Given the description of an element on the screen output the (x, y) to click on. 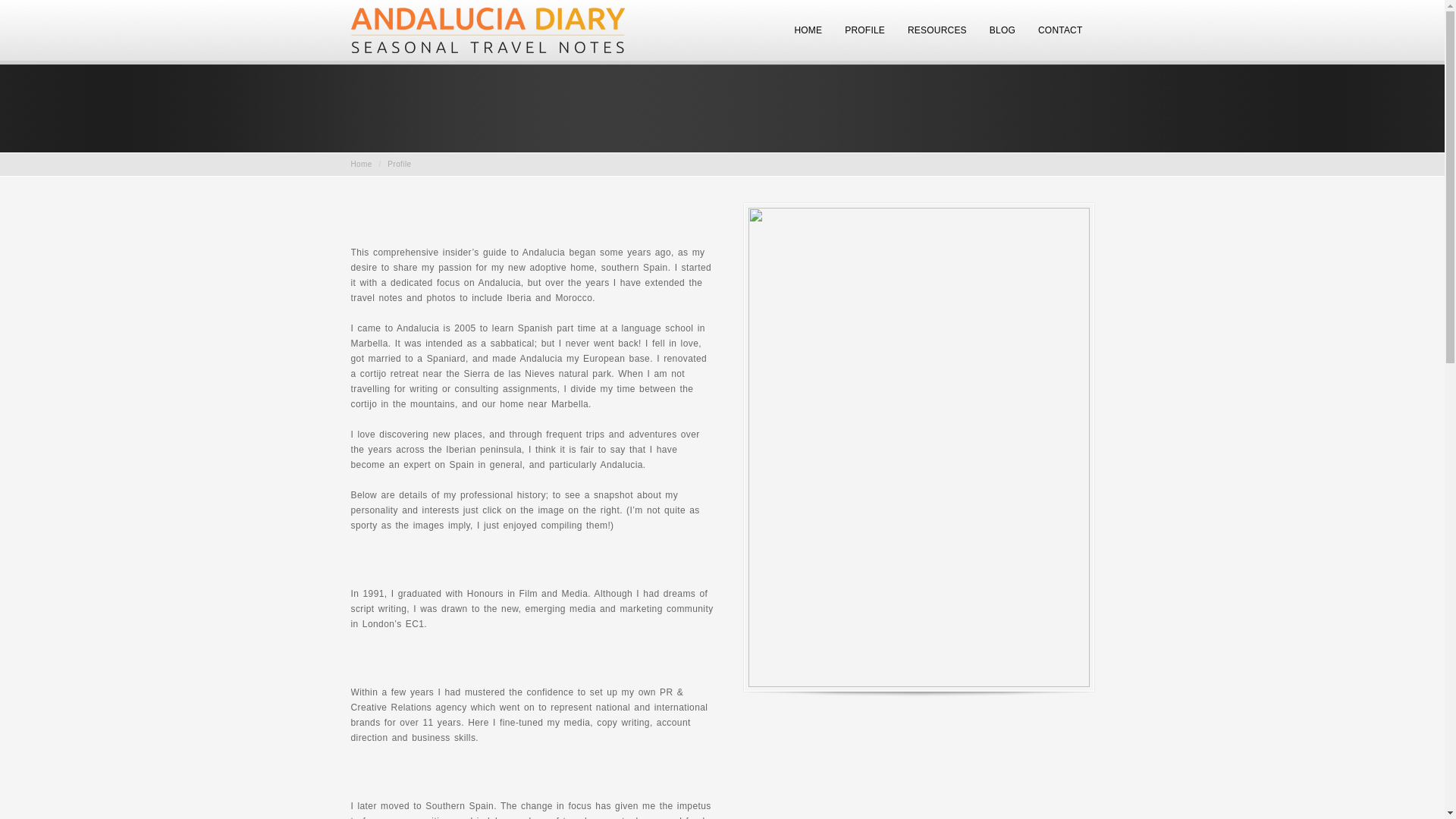
CONTACT (1059, 37)
HOME (807, 37)
Home (360, 163)
RESOURCES (937, 37)
PROFILE (864, 37)
